Given the description of an element on the screen output the (x, y) to click on. 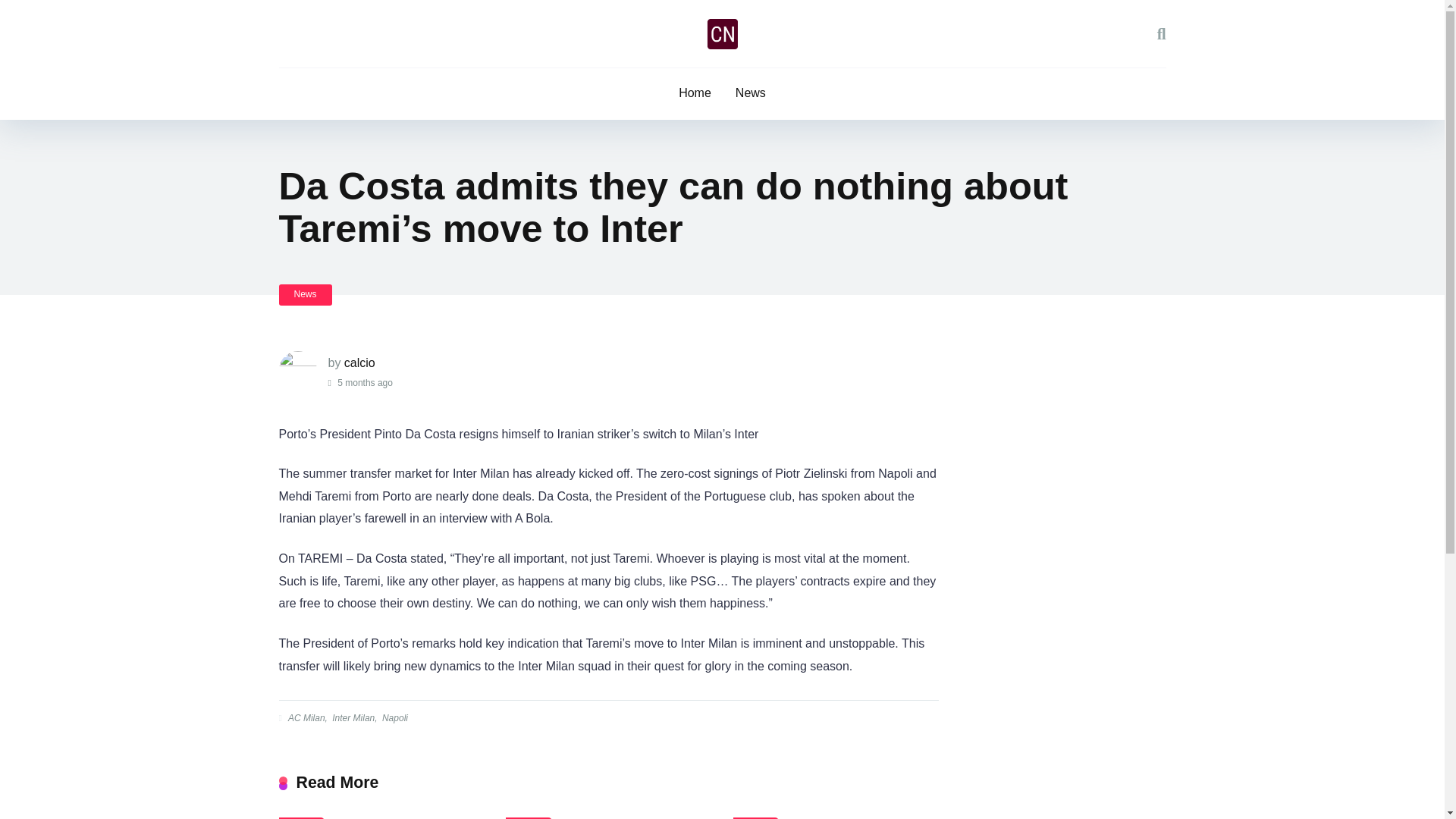
News (301, 818)
AC Milan (304, 717)
Napoli (393, 717)
Inter Milan (352, 717)
calcio (359, 362)
News (750, 93)
Home (694, 93)
News (755, 818)
Calcio News (721, 33)
News (305, 294)
Posts by calcio (359, 362)
News (528, 818)
